Given the description of an element on the screen output the (x, y) to click on. 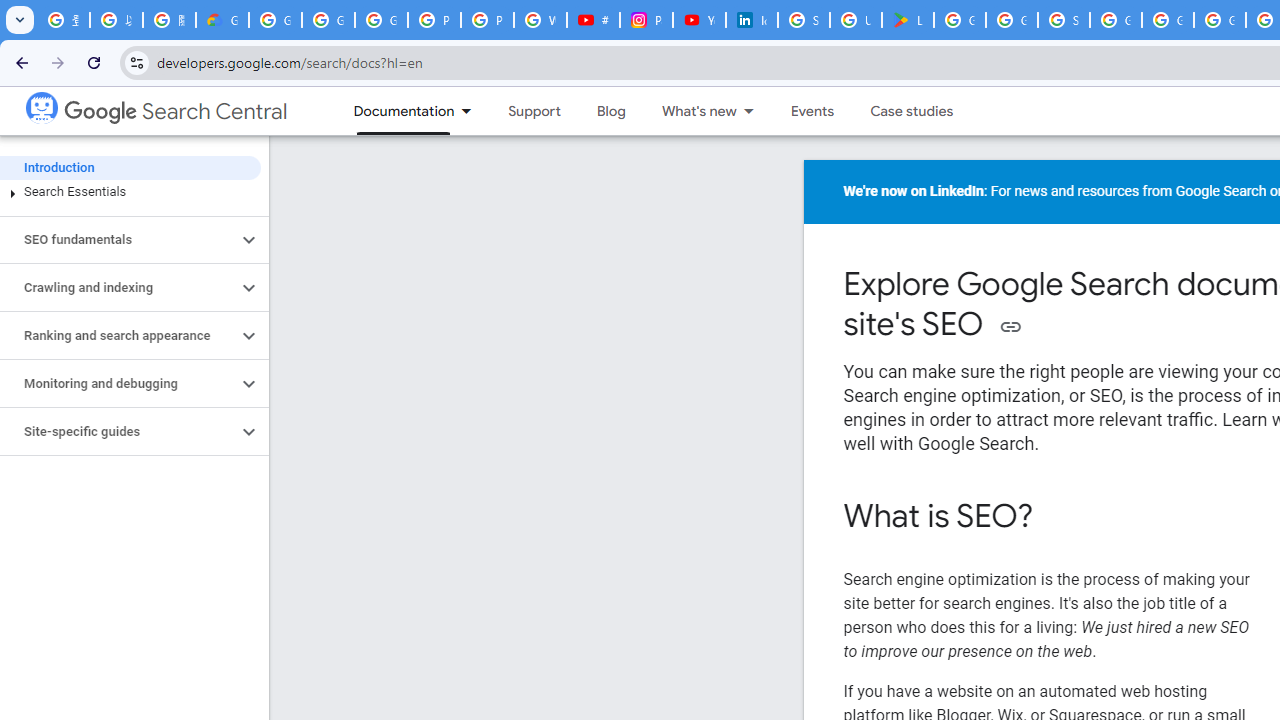
Blog (610, 111)
Monitoring and debugging (118, 384)
Dropdown menu for Documentation (472, 111)
Google Workspace - Specific Terms (1011, 20)
Support (534, 111)
Ranking and search appearance (118, 335)
Search Essentials (130, 191)
Events (811, 111)
Sign in - Google Accounts (803, 20)
